Given the description of an element on the screen output the (x, y) to click on. 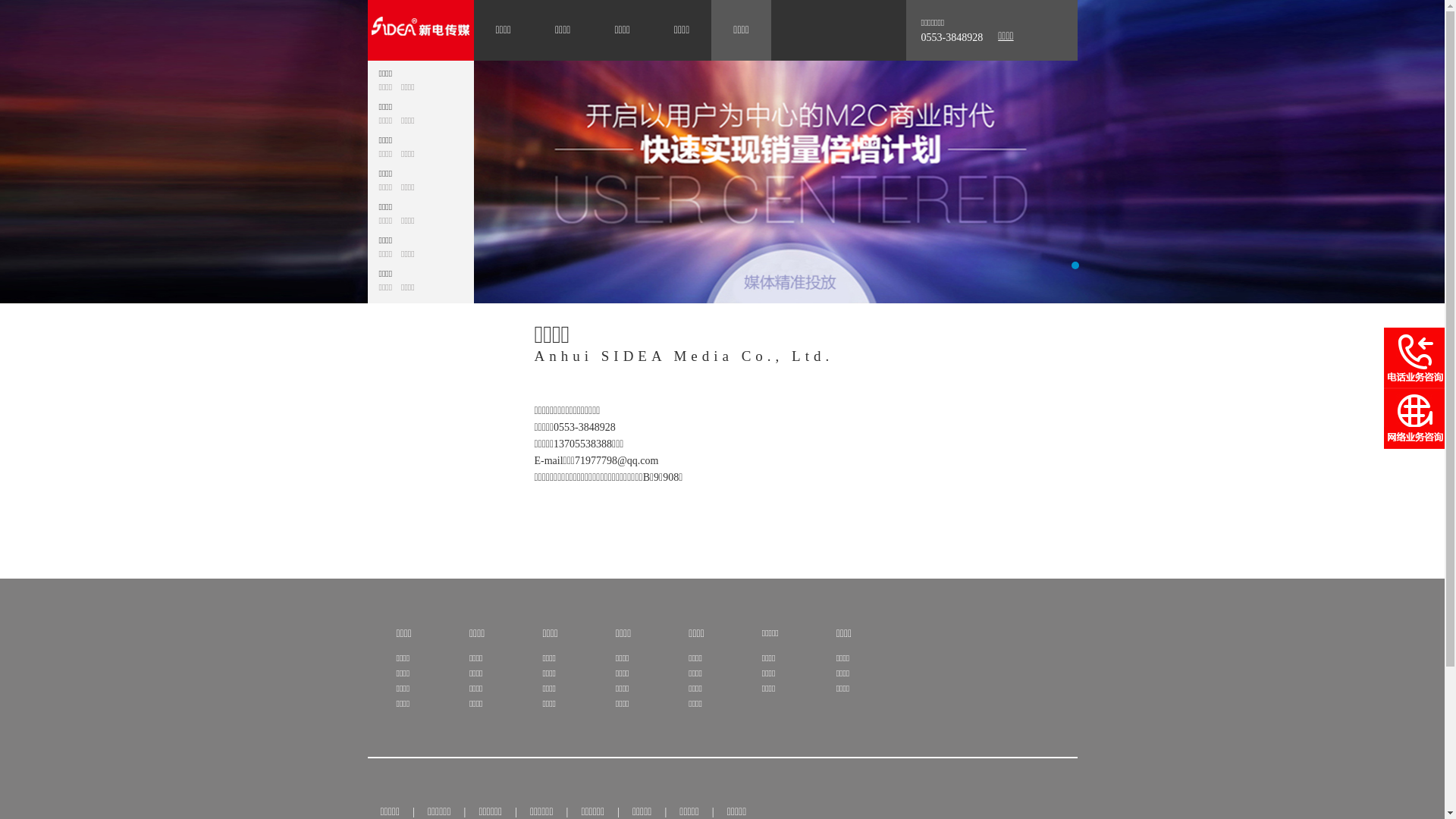
2231 Element type: text (722, 151)
1 Element type: text (1074, 265)
